Given the description of an element on the screen output the (x, y) to click on. 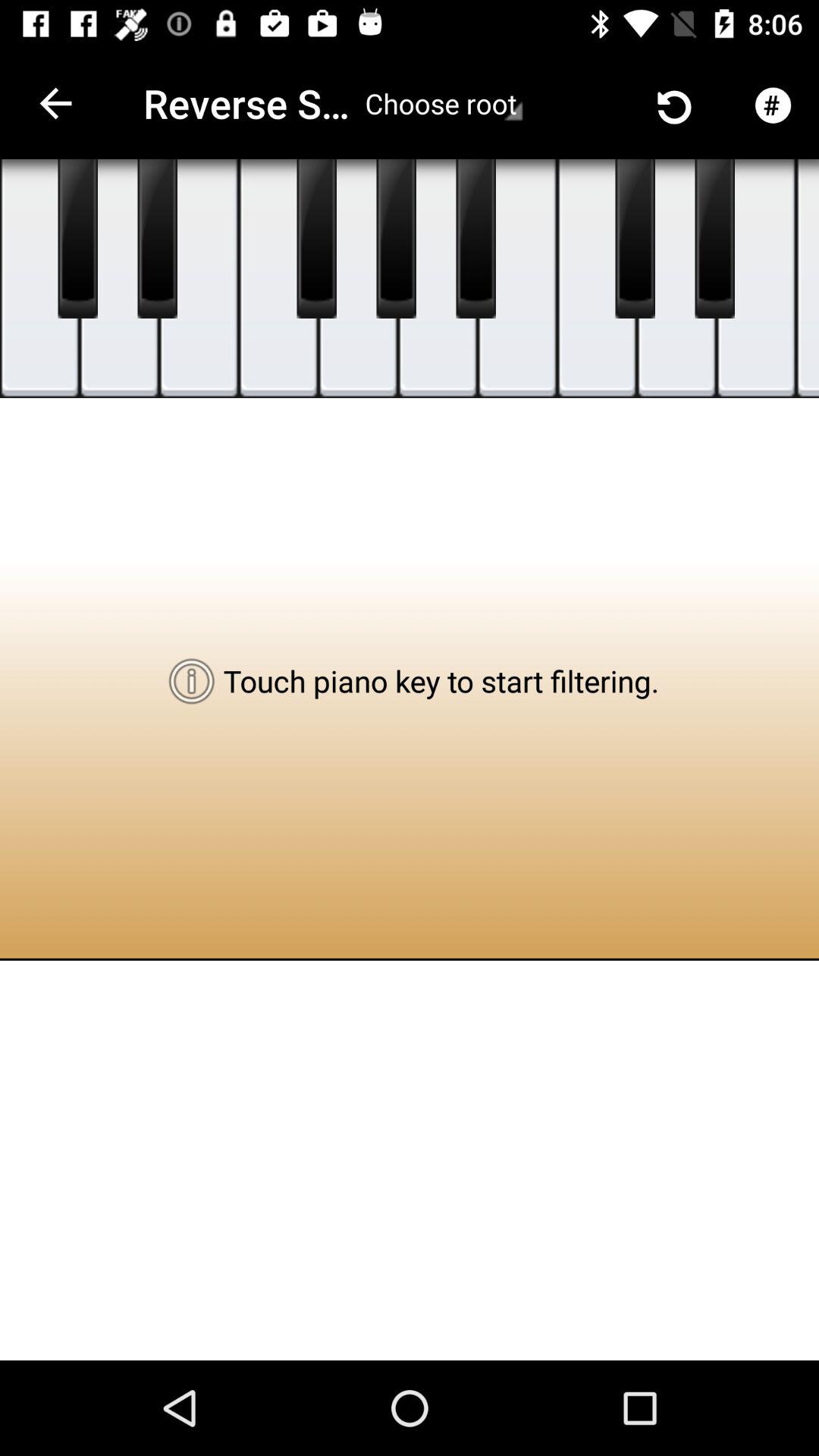
turn on the icon next to the choose root item (579, 103)
